Given the description of an element on the screen output the (x, y) to click on. 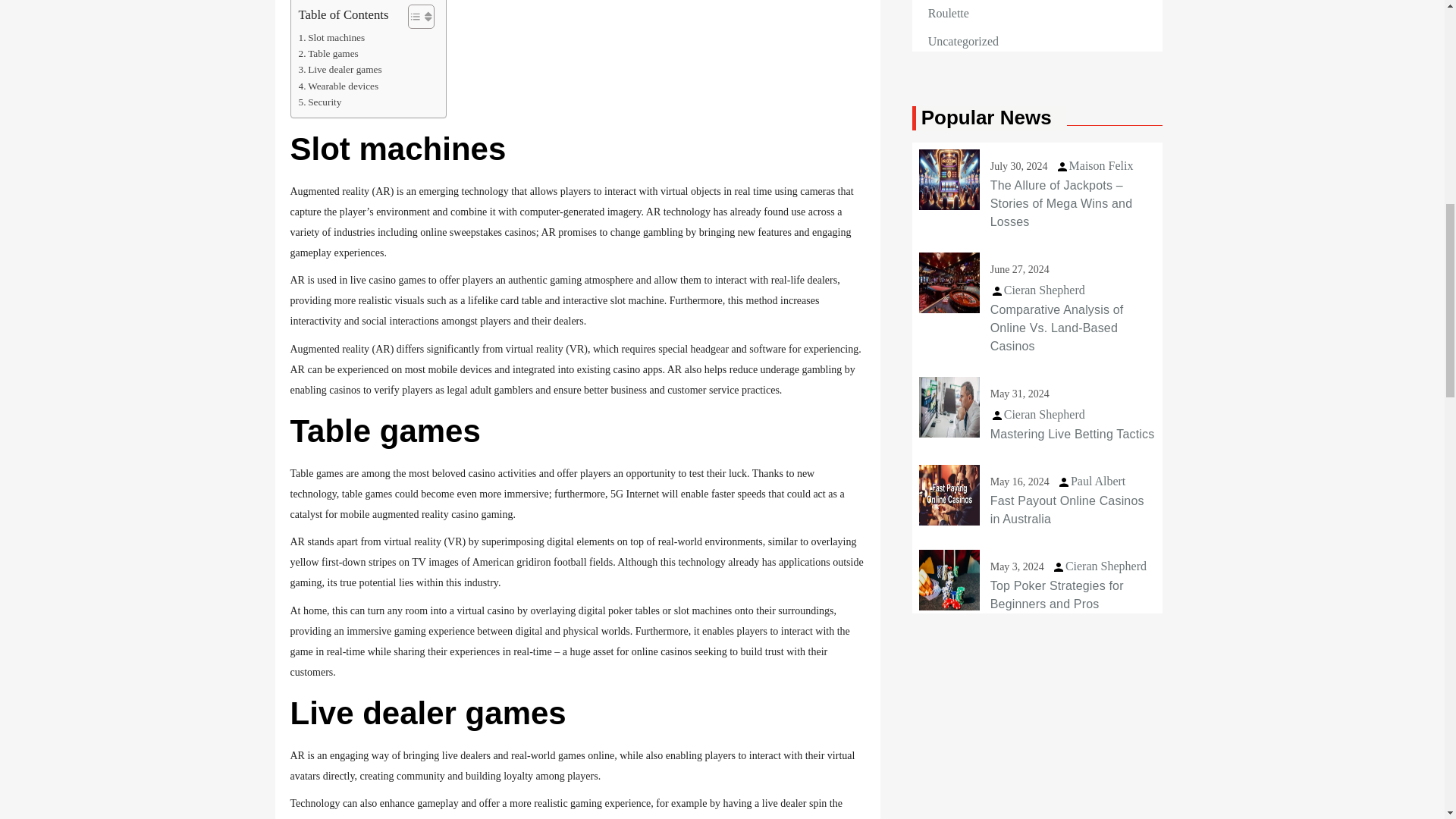
Wearable devices (338, 85)
Uncategorized (963, 41)
Table games (328, 53)
Roulette (948, 13)
July 30, 2024 (1019, 164)
Live dealer games (339, 68)
Wearable devices (338, 85)
Slot machines (331, 37)
Table games (328, 53)
Slot machines (331, 37)
